Given the description of an element on the screen output the (x, y) to click on. 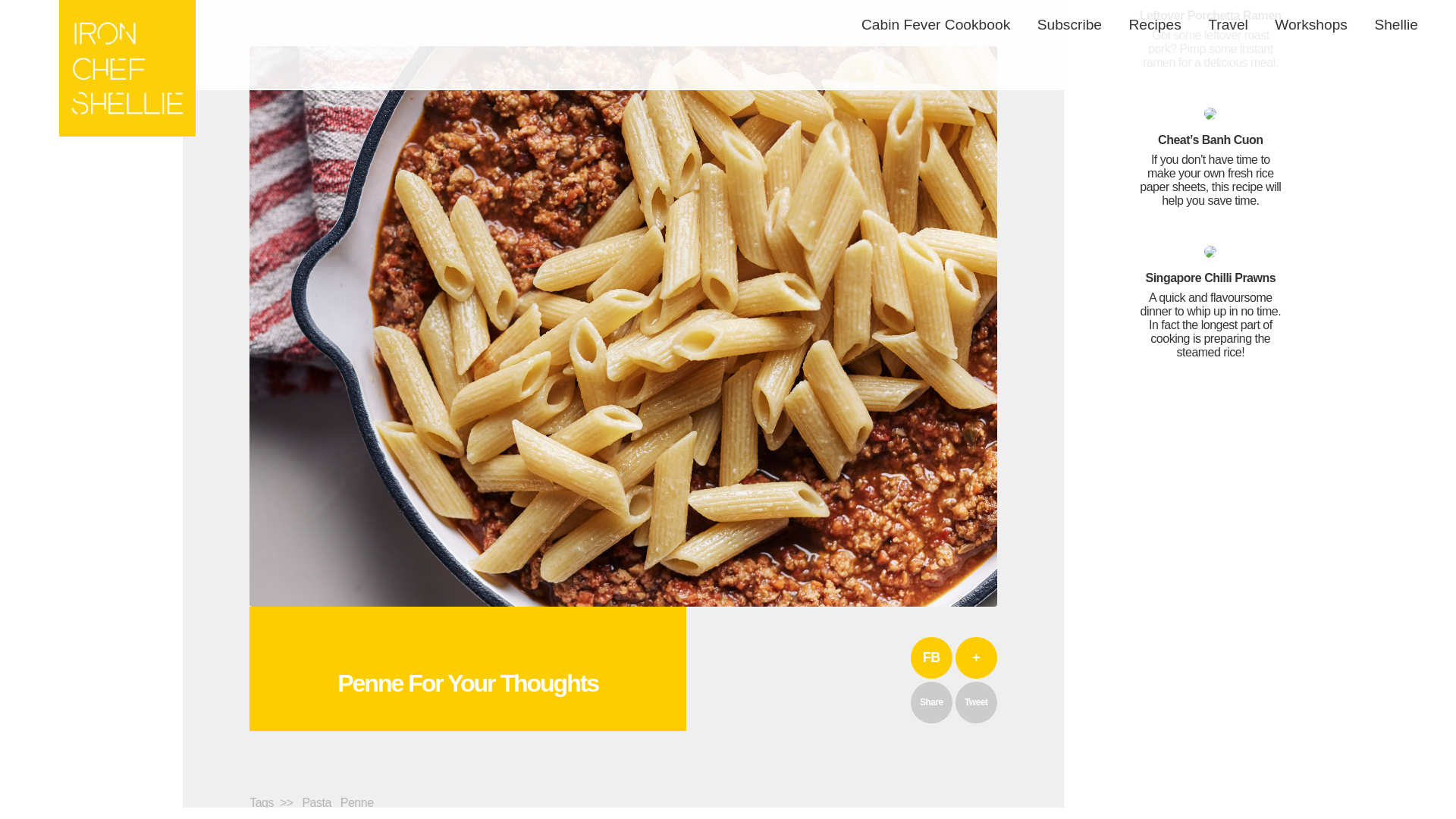
FB (931, 657)
Leftover Porchetta Ramen (1210, 34)
Singapore Chilli Prawns (1210, 301)
Share (931, 702)
Tweet (976, 702)
Penne (360, 802)
Pasta (318, 802)
